Given the description of an element on the screen output the (x, y) to click on. 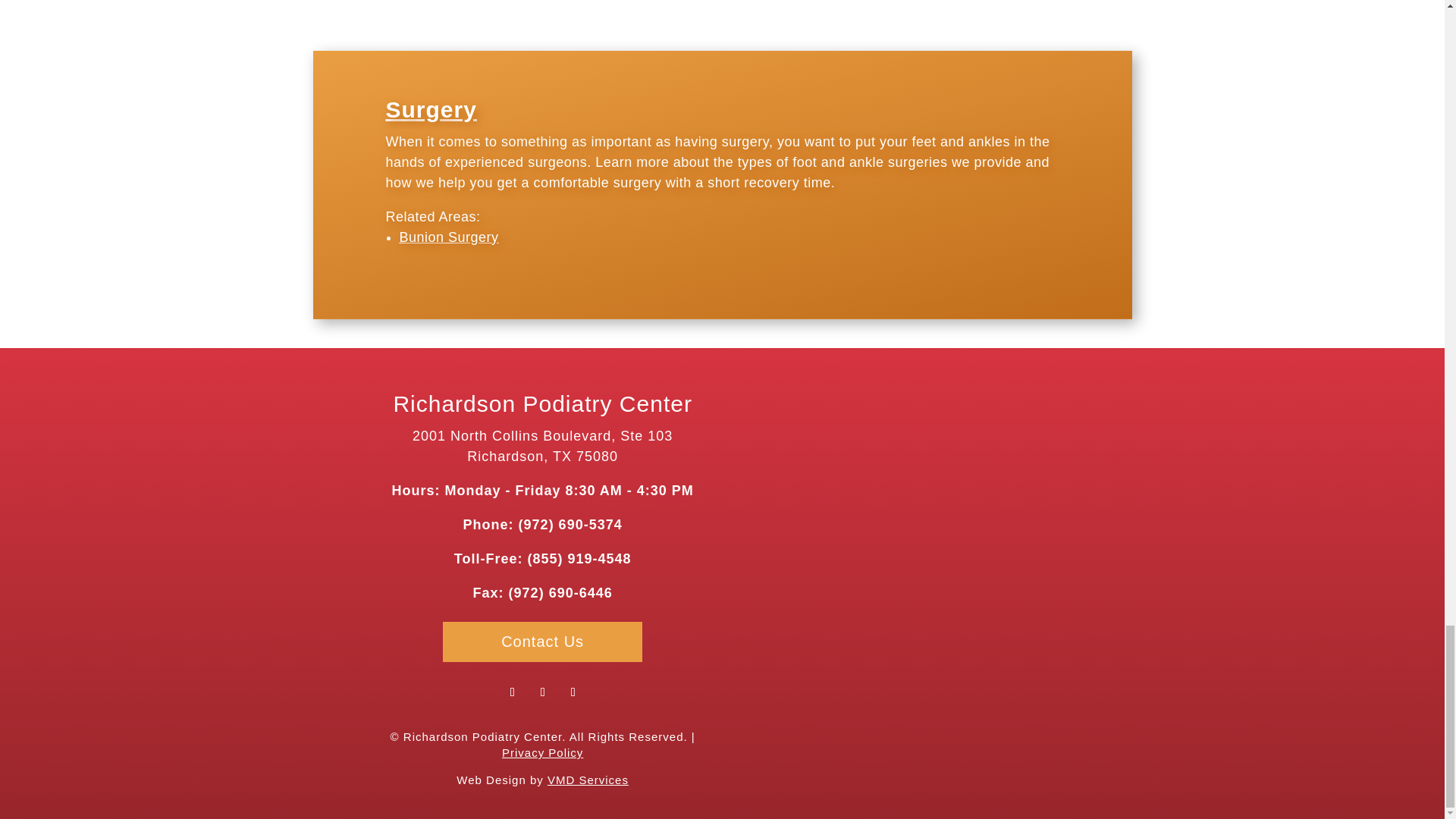
Follow on Youtube (572, 692)
Follow on Facebook (512, 692)
Follow on Twitter (542, 692)
